Given the description of an element on the screen output the (x, y) to click on. 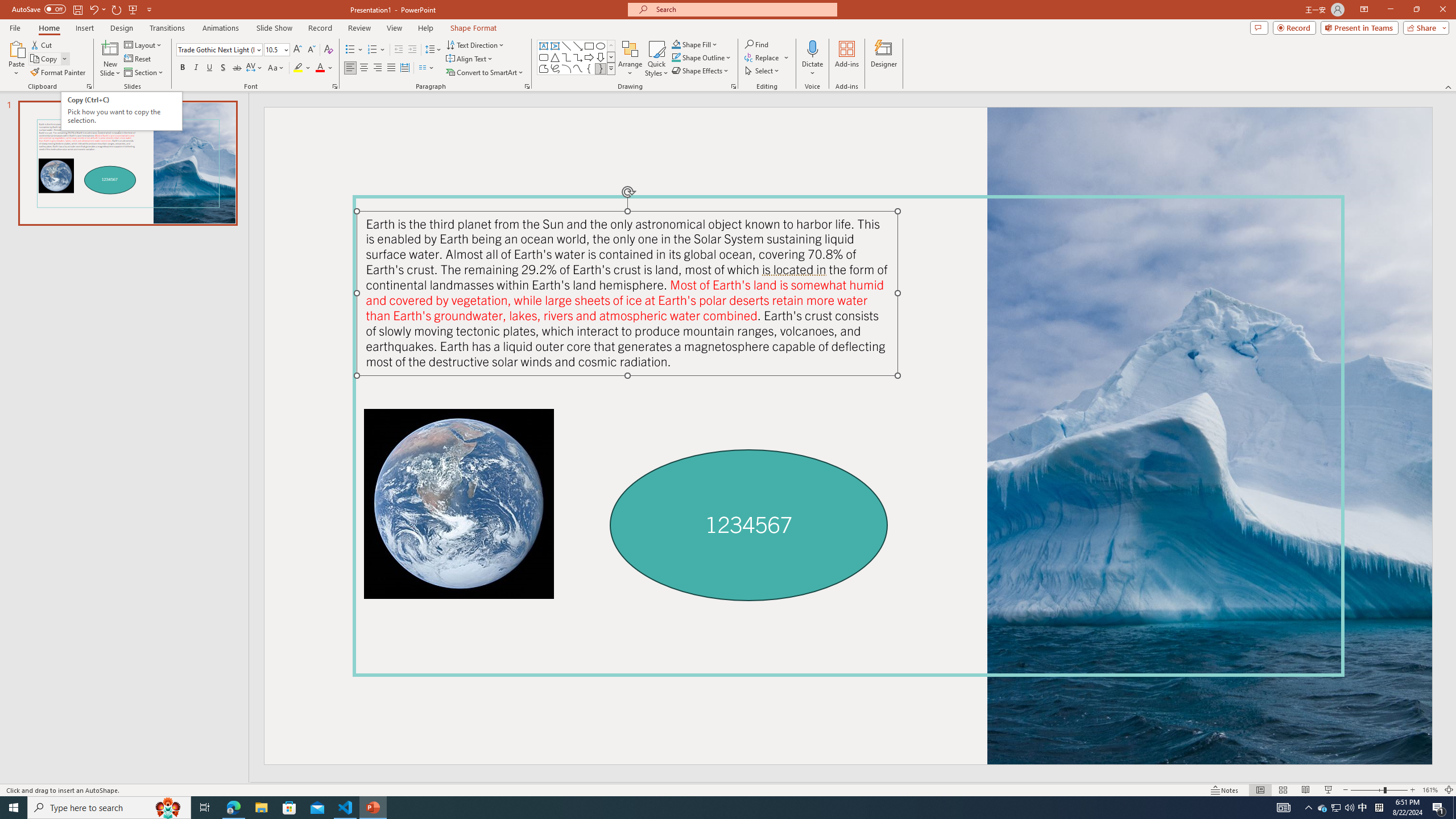
Shape Outline Teal, Accent 1 (675, 56)
